Given the description of an element on the screen output the (x, y) to click on. 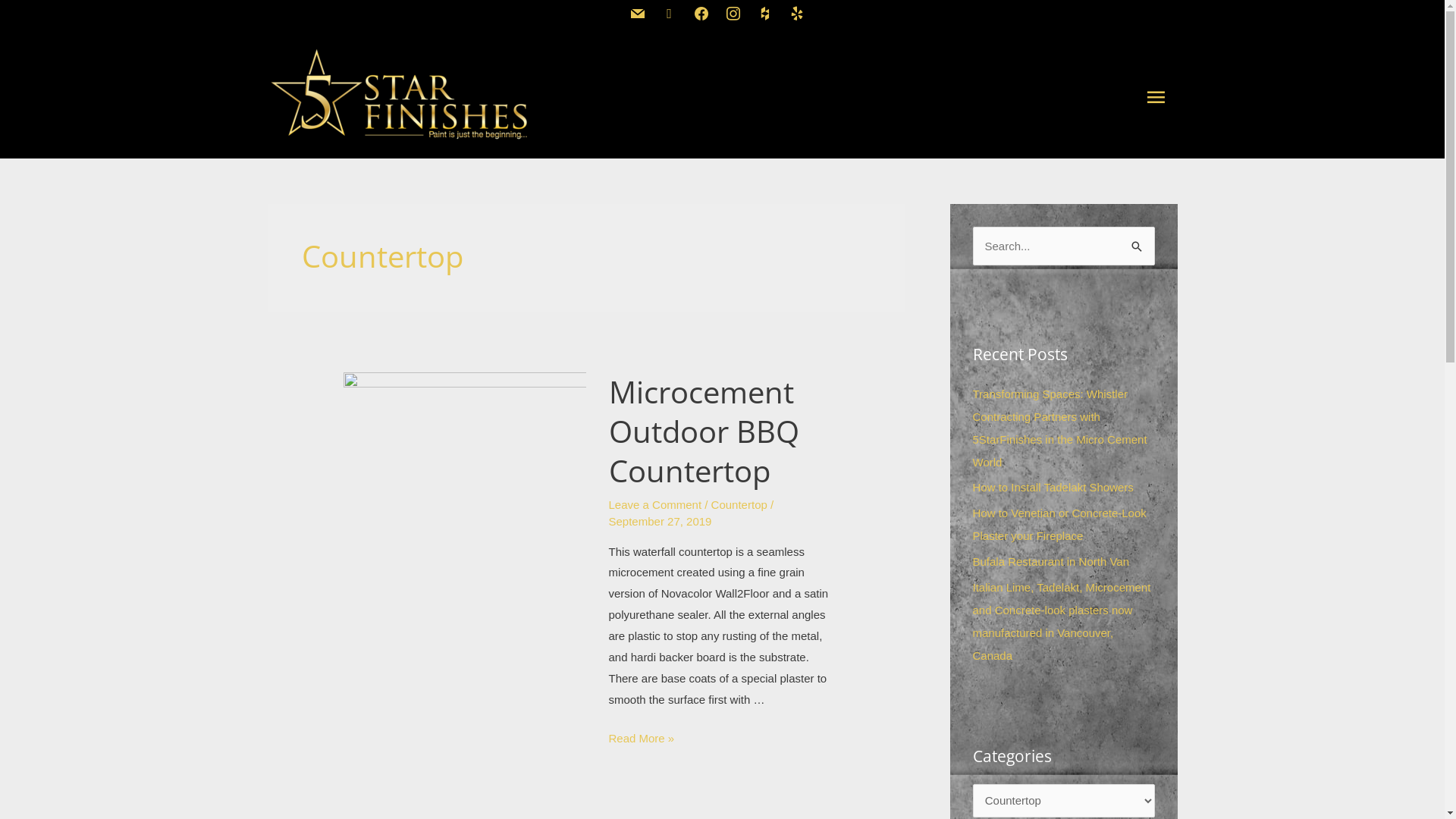
How to Install Tadelakt Showers Element type: text (1052, 486)
Microcement Outdoor BBQ Countertop Element type: text (703, 430)
Bufala Restaurant in North Van Element type: text (1050, 561)
yelp Element type: text (796, 12)
phone-square Element type: text (669, 12)
houzz Element type: text (765, 12)
facebook2 Element type: text (701, 12)
mail Element type: text (637, 12)
Main Menu Element type: text (1155, 93)
Countertop Element type: text (739, 504)
Search Element type: text (1137, 241)
instagram Element type: text (733, 12)
How to Venetian or Concrete-Look Plaster your Fireplace Element type: text (1058, 524)
Leave a Comment Element type: text (654, 504)
